Given the description of an element on the screen output the (x, y) to click on. 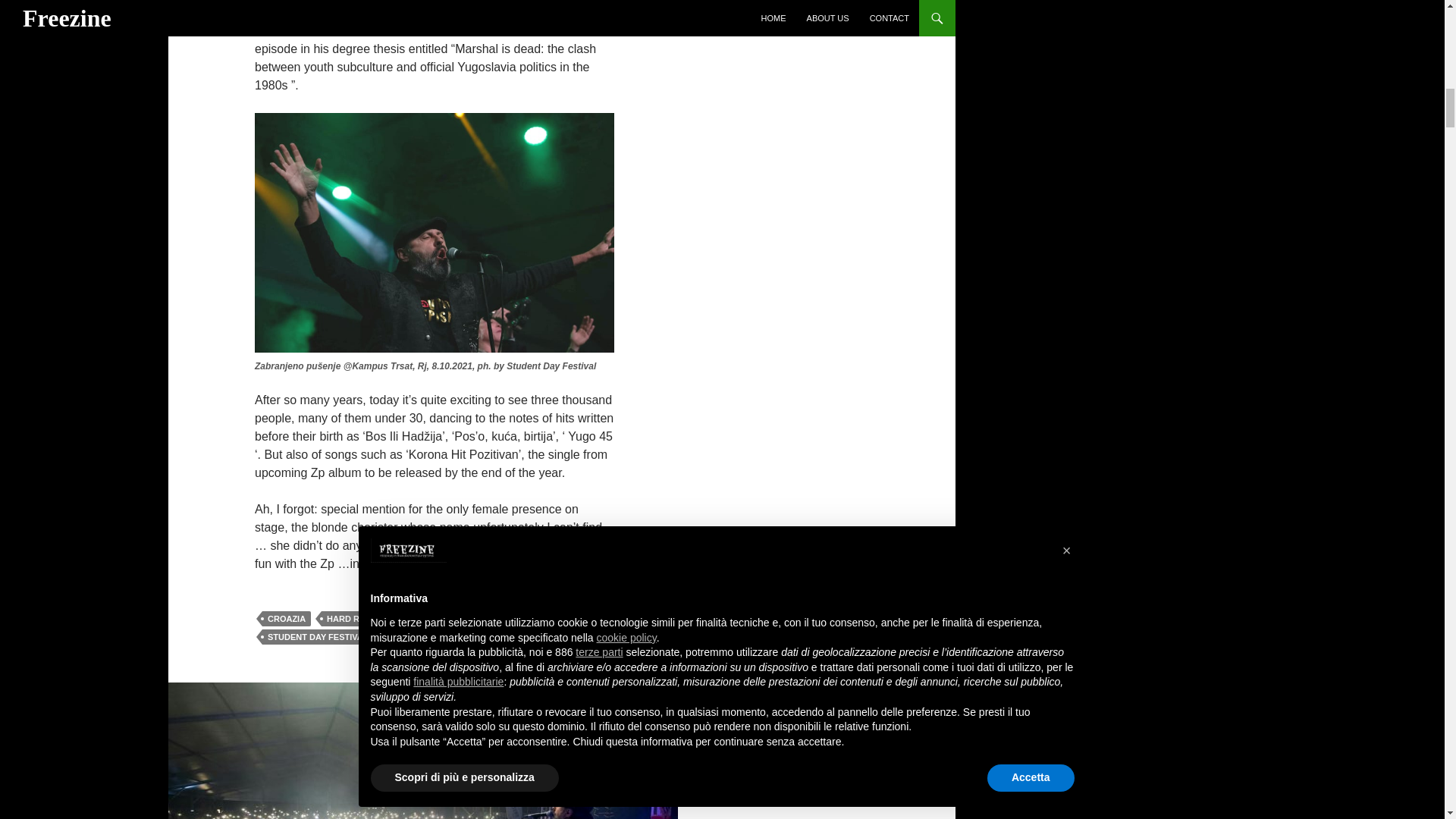
SARAJEVO (473, 618)
RIJEKA (413, 618)
HARD ROCK (351, 618)
STUDENT DAY FESTIVAL (317, 636)
CROAZIA (286, 618)
